Given the description of an element on the screen output the (x, y) to click on. 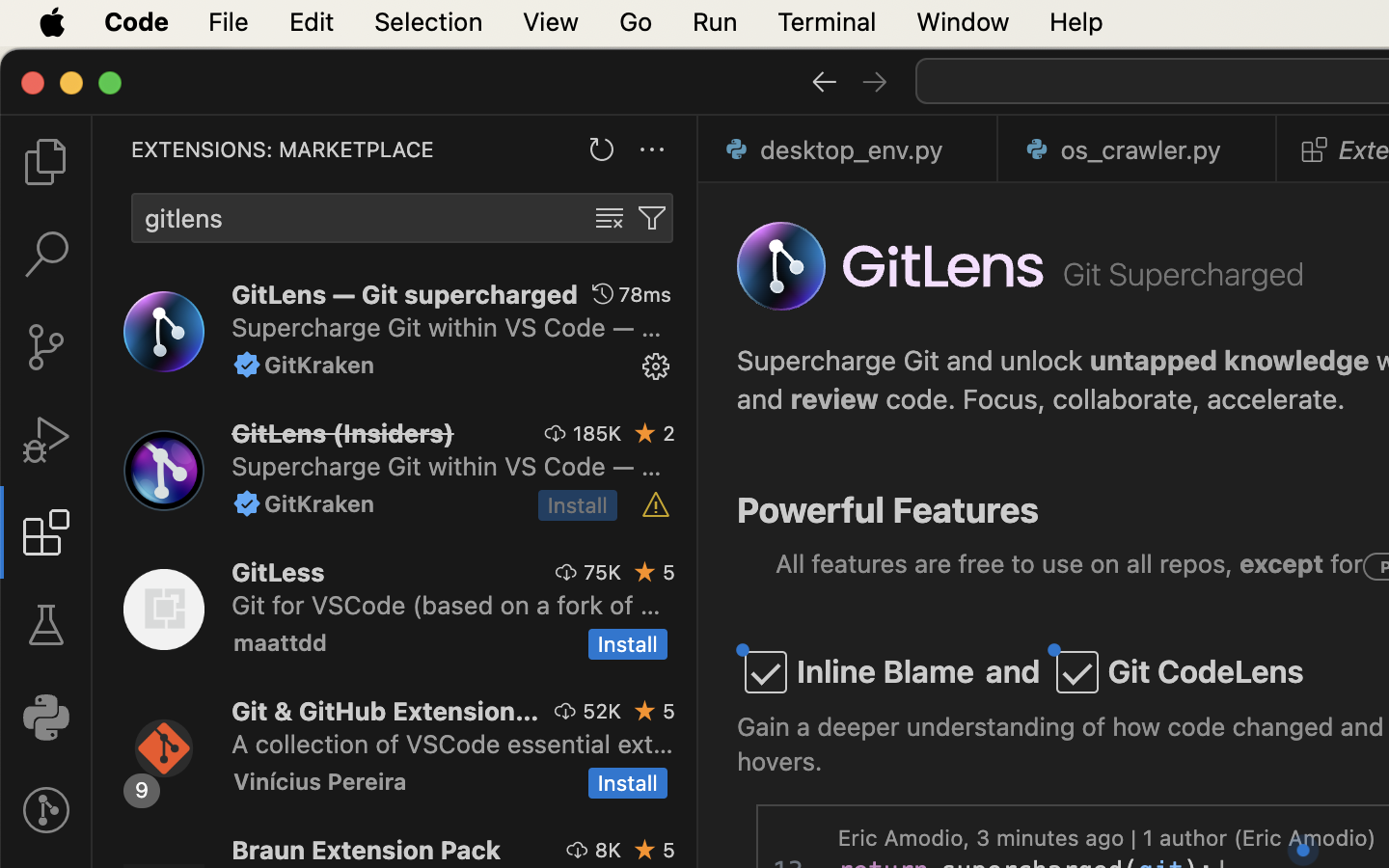
Braun Extension Pack Element type: AXStaticText (366, 849)
78ms Element type: AXStaticText (645, 293)
 Element type: AXButton (655, 366)
Inline Blame Element type: AXStaticText (885, 671)
All features are free to use on all repos, Element type: AXStaticText (1007, 563)
